Given the description of an element on the screen output the (x, y) to click on. 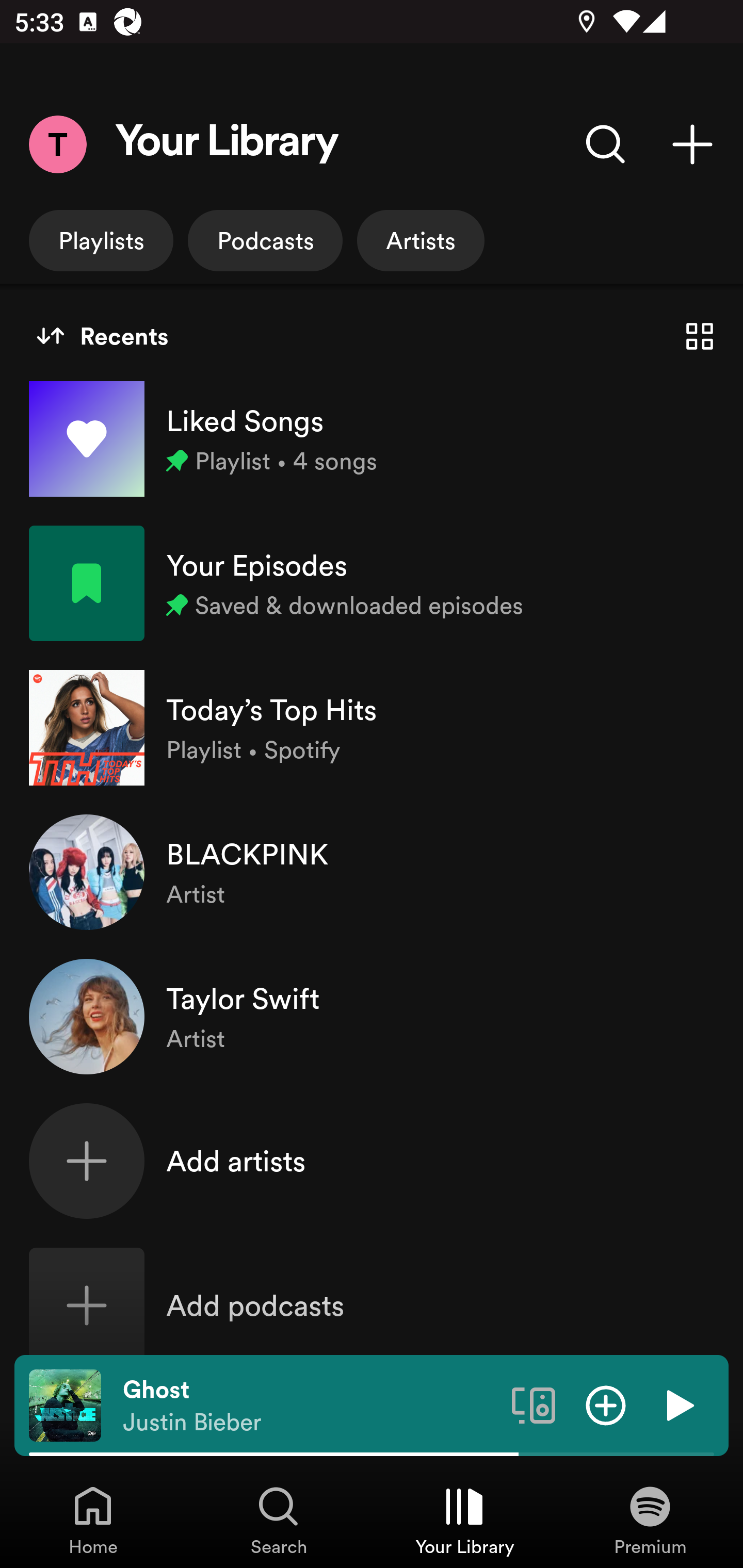
Menu (57, 144)
Search Your Library (605, 144)
Create playlist (692, 144)
Your Library Your Library Heading (226, 144)
Playlists, show only playlists. (100, 240)
Podcasts, show only podcasts. (264, 240)
Artists, show only artists. (420, 240)
Recents (101, 336)
Show Grid view (699, 336)
BLACKPINK, Artist,  BLACKPINK Artist (371, 871)
Taylor Swift, Artist,  Taylor Swift Artist (371, 1016)
Add artists,  Add artists (371, 1160)
Add podcasts,  Add podcasts (371, 1305)
Ghost Justin Bieber (309, 1405)
The cover art of the currently playing track (64, 1404)
Connect to a device. Opens the devices menu (533, 1404)
Add item (605, 1404)
Play (677, 1404)
Home, Tab 1 of 4 Home Home (92, 1519)
Search, Tab 2 of 4 Search Search (278, 1519)
Your Library, Tab 3 of 4 Your Library Your Library (464, 1519)
Premium, Tab 4 of 4 Premium Premium (650, 1519)
